Given the description of an element on the screen output the (x, y) to click on. 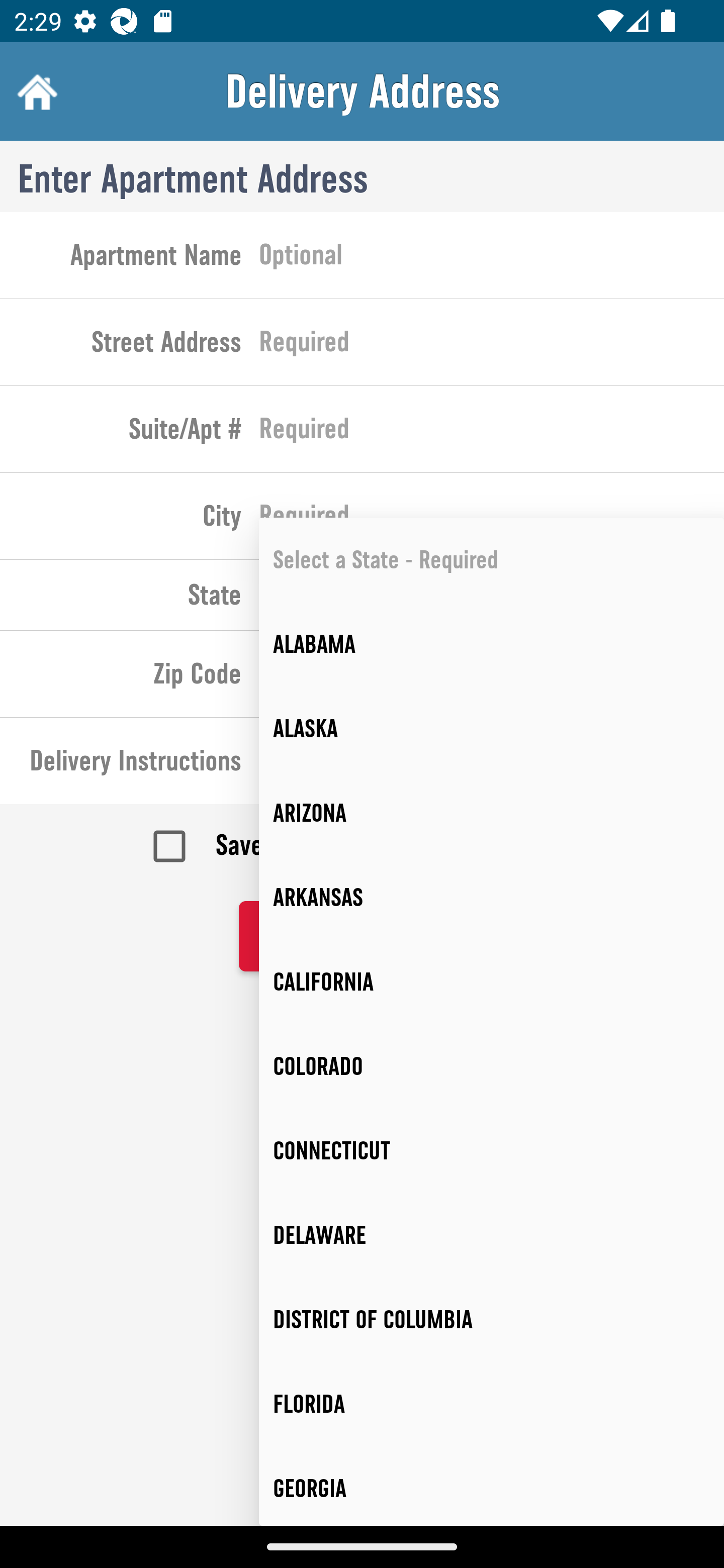
Select a State - Required (491, 559)
ALABAMA (491, 644)
ALASKA (491, 728)
ARIZONA (491, 813)
ARKANSAS (491, 897)
CALIFORNIA (491, 981)
COLORADO (491, 1065)
CONNECTICUT (491, 1150)
DELAWARE (491, 1235)
DISTRICT OF COLUMBIA (491, 1319)
FLORIDA (491, 1403)
GEORGIA (491, 1485)
